Given the description of an element on the screen output the (x, y) to click on. 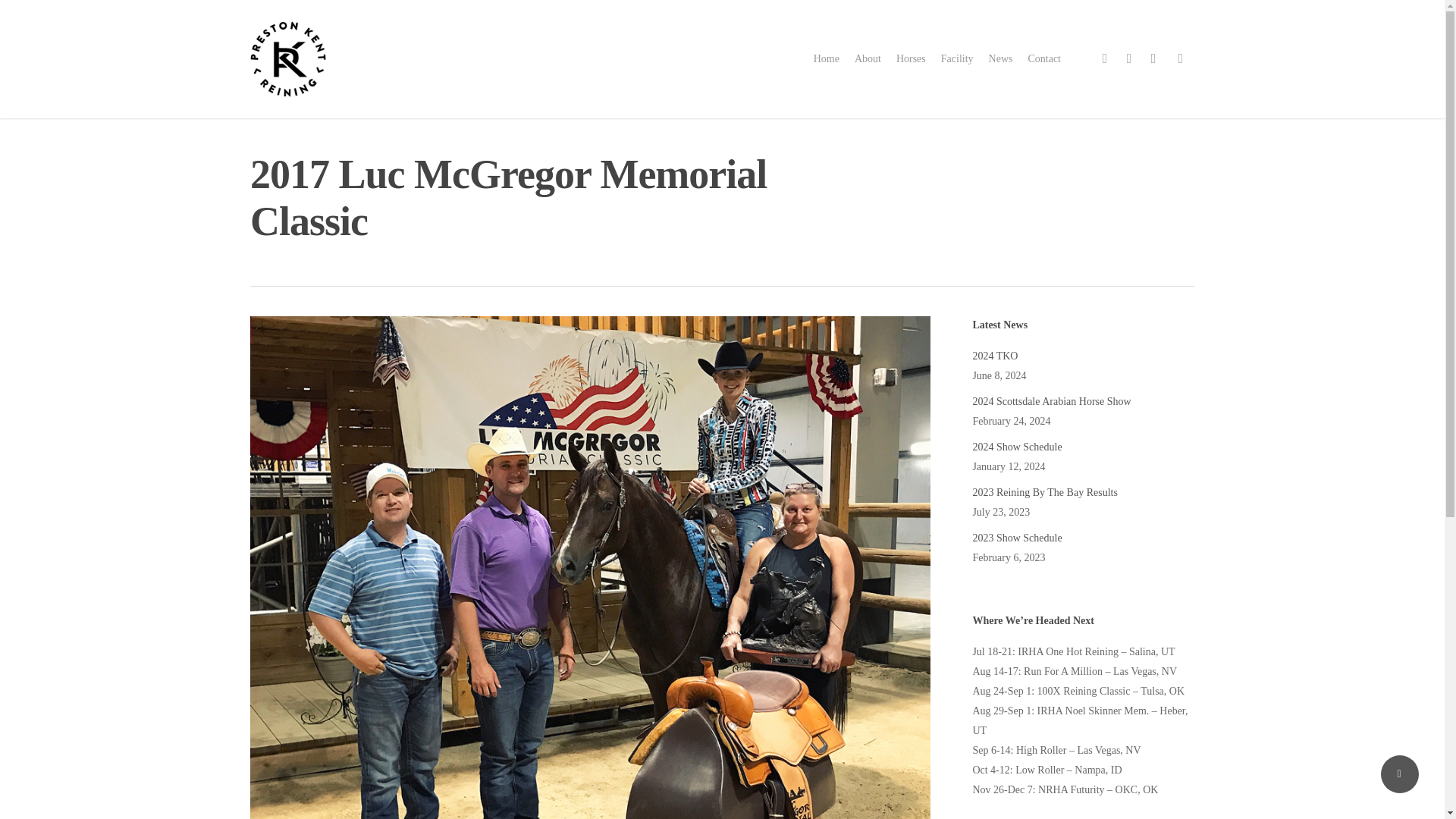
About (867, 58)
Home (826, 58)
instagram (1180, 58)
facebook (1129, 58)
News (1000, 58)
twitter (1104, 58)
2024 TKO (1082, 356)
Facility (957, 58)
2023 Reining By The Bay Results (1082, 492)
youtube (1153, 58)
2024 Scottsdale Arabian Horse Show (1082, 401)
2024 Show Schedule (1082, 447)
2023 Show Schedule (1082, 537)
Contact (1044, 58)
Horses (911, 58)
